Given the description of an element on the screen output the (x, y) to click on. 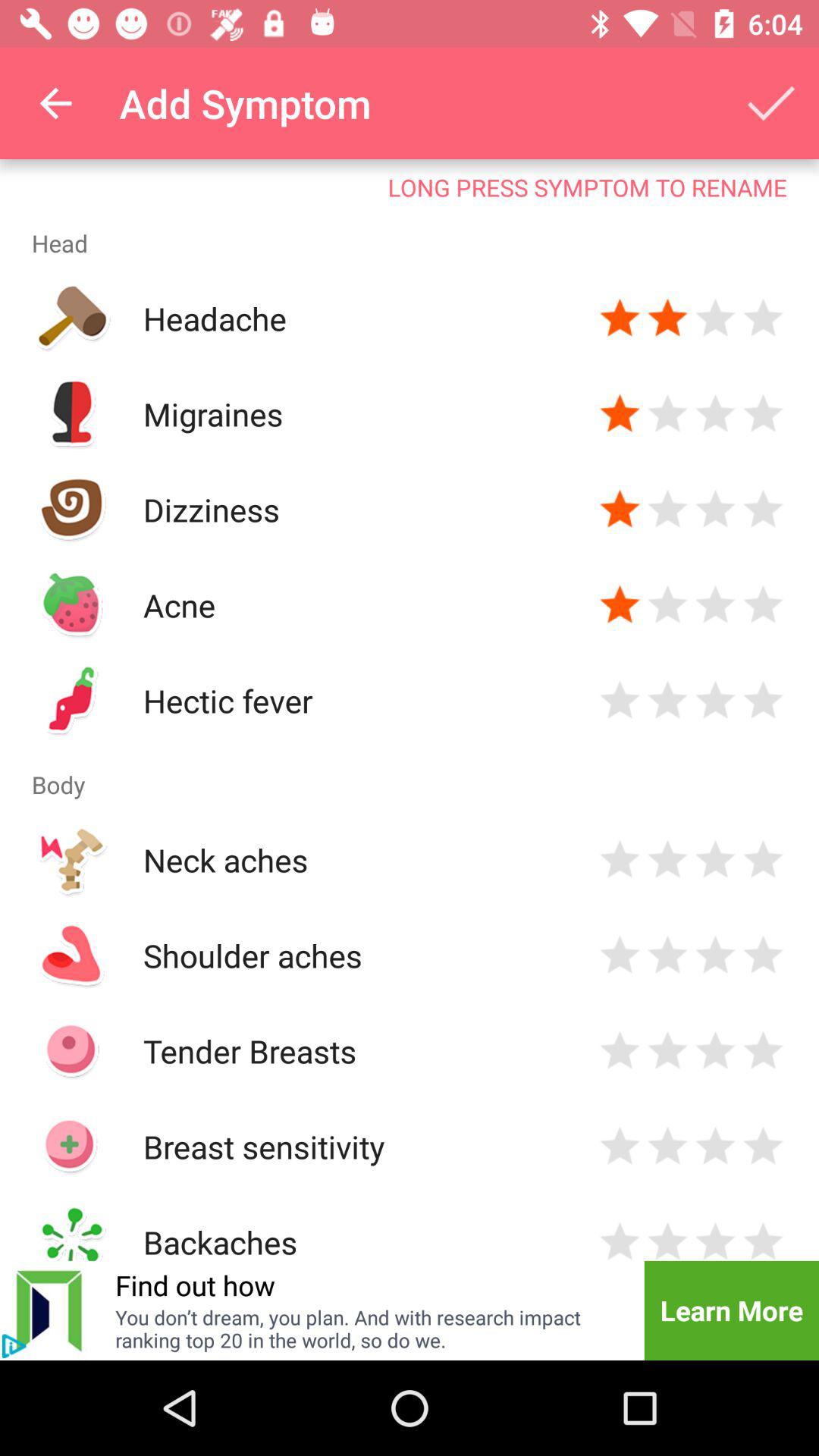
star rating (763, 605)
